Given the description of an element on the screen output the (x, y) to click on. 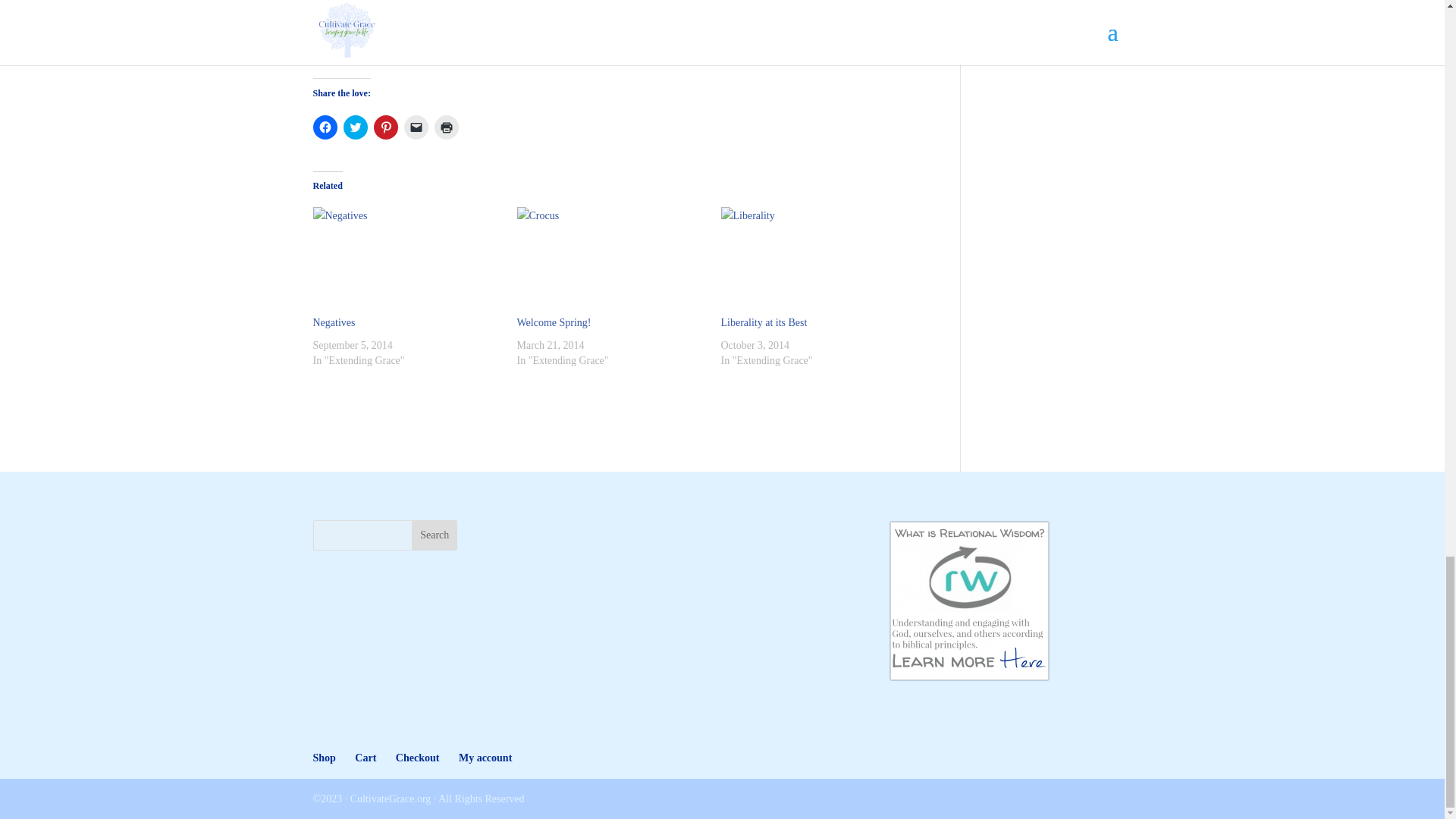
Welcome Spring! (611, 260)
Click to email a link to a friend (415, 127)
Liberality at its Best (763, 322)
Negatives (334, 322)
Welcome Spring! (553, 322)
Click to print (445, 127)
Negatives (406, 260)
Click to share on Pinterest (384, 127)
Click to share on Twitter (354, 127)
Click to share on Facebook (324, 127)
